Given the description of an element on the screen output the (x, y) to click on. 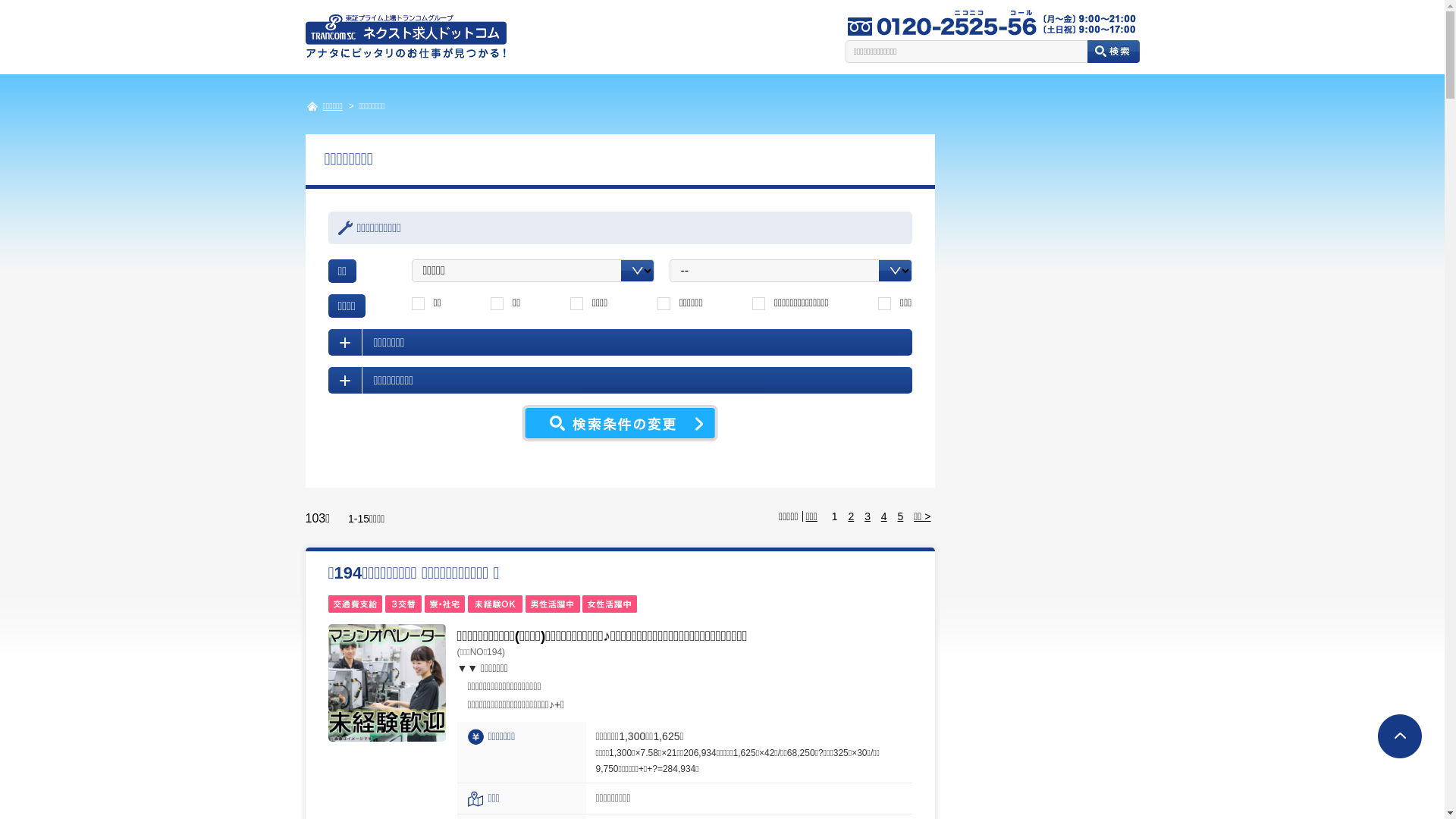
4 Element type: text (884, 516)
2 Element type: text (850, 516)
5 Element type: text (900, 516)
3 Element type: text (867, 516)
